Given the description of an element on the screen output the (x, y) to click on. 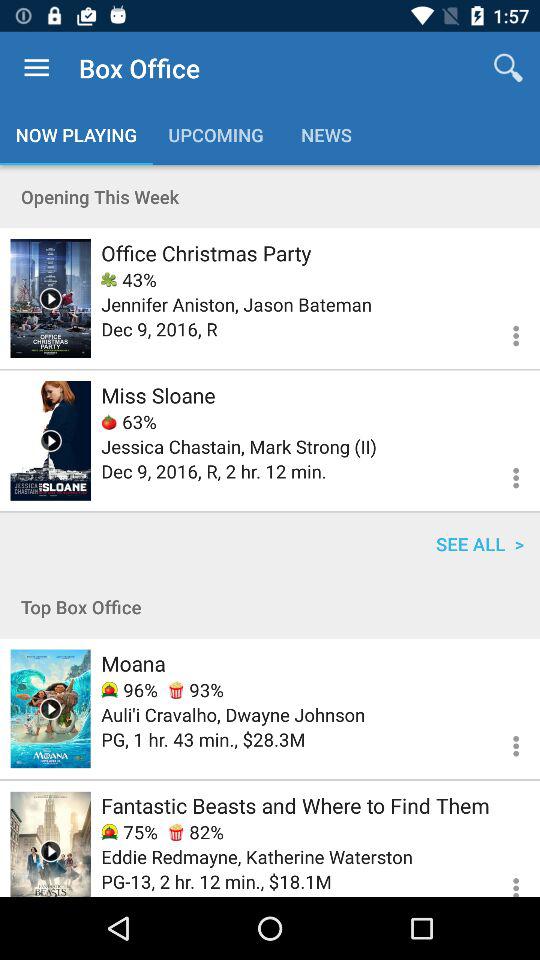
open icon next to box office item (36, 68)
